Given the description of an element on the screen output the (x, y) to click on. 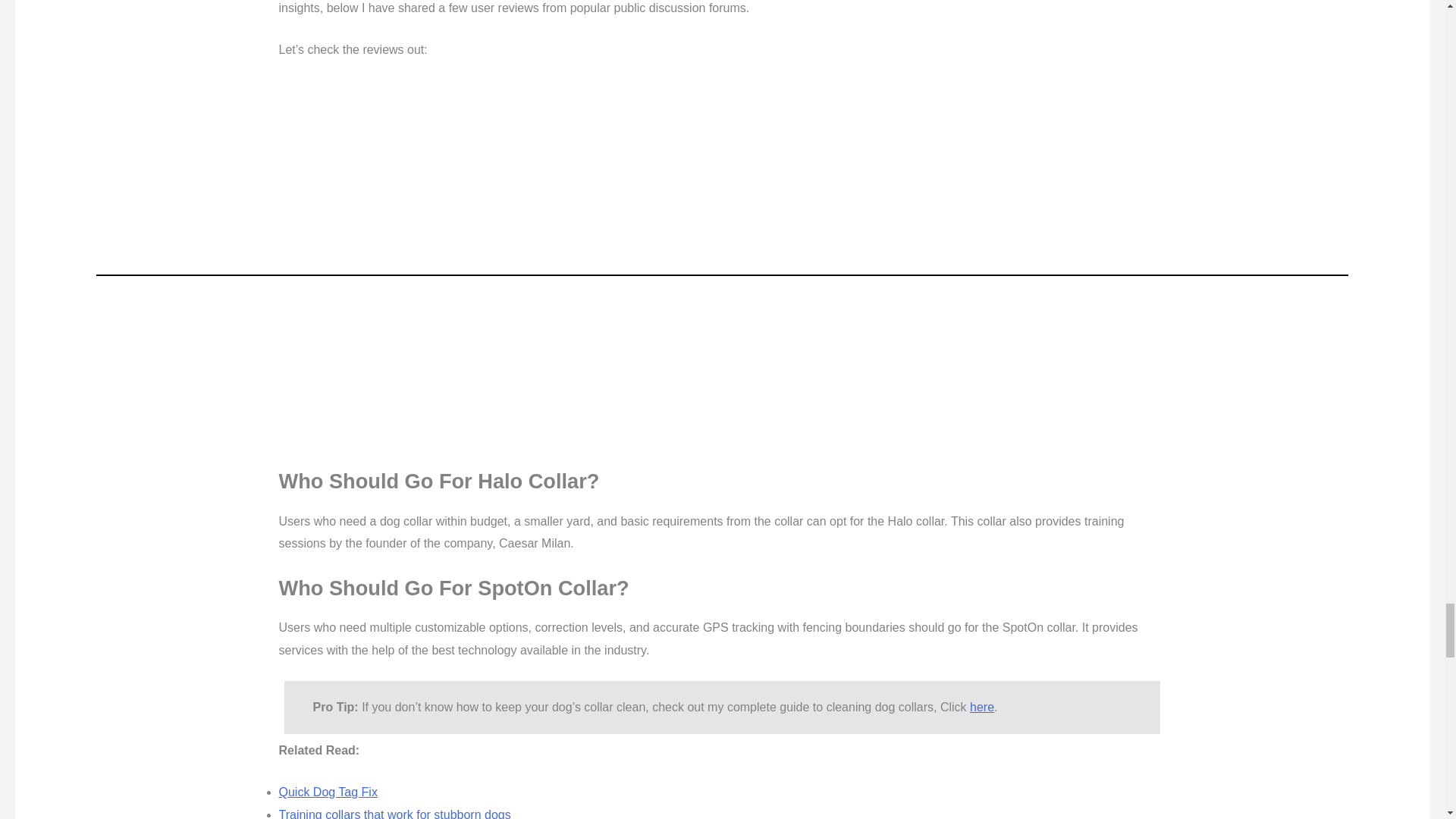
Quick Dog Tag Fix (328, 537)
Training collars that work for stubborn dogs (395, 559)
here (981, 452)
Dog Harness Vs. Collar: Detailed Comparison (402, 582)
